Given the description of an element on the screen output the (x, y) to click on. 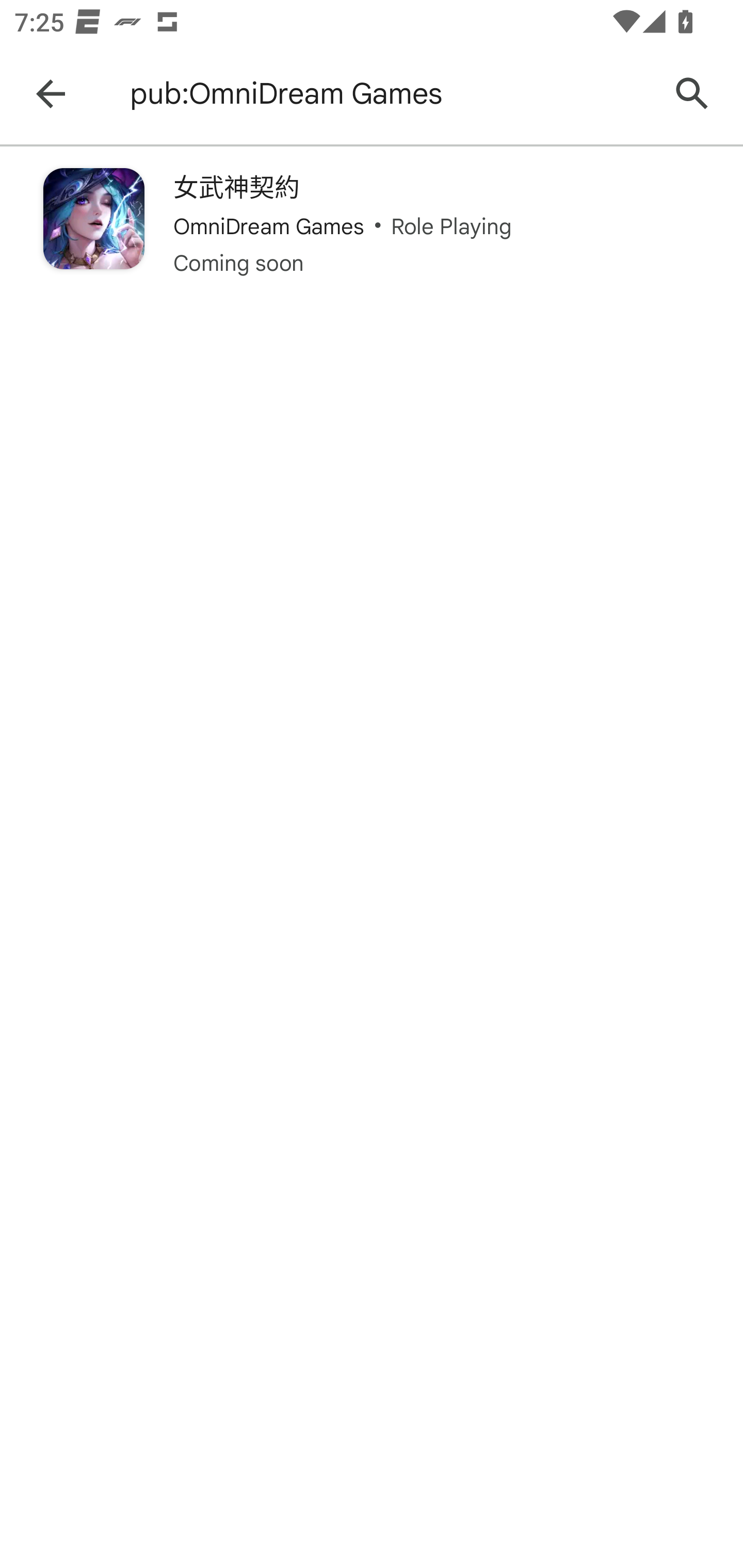
pub:OmniDream Games (389, 93)
Navigate up (50, 93)
Search Google Play (692, 93)
女武神契約
OmniDream Games
Role Playing
Coming soon
 (371, 223)
